Given the description of an element on the screen output the (x, y) to click on. 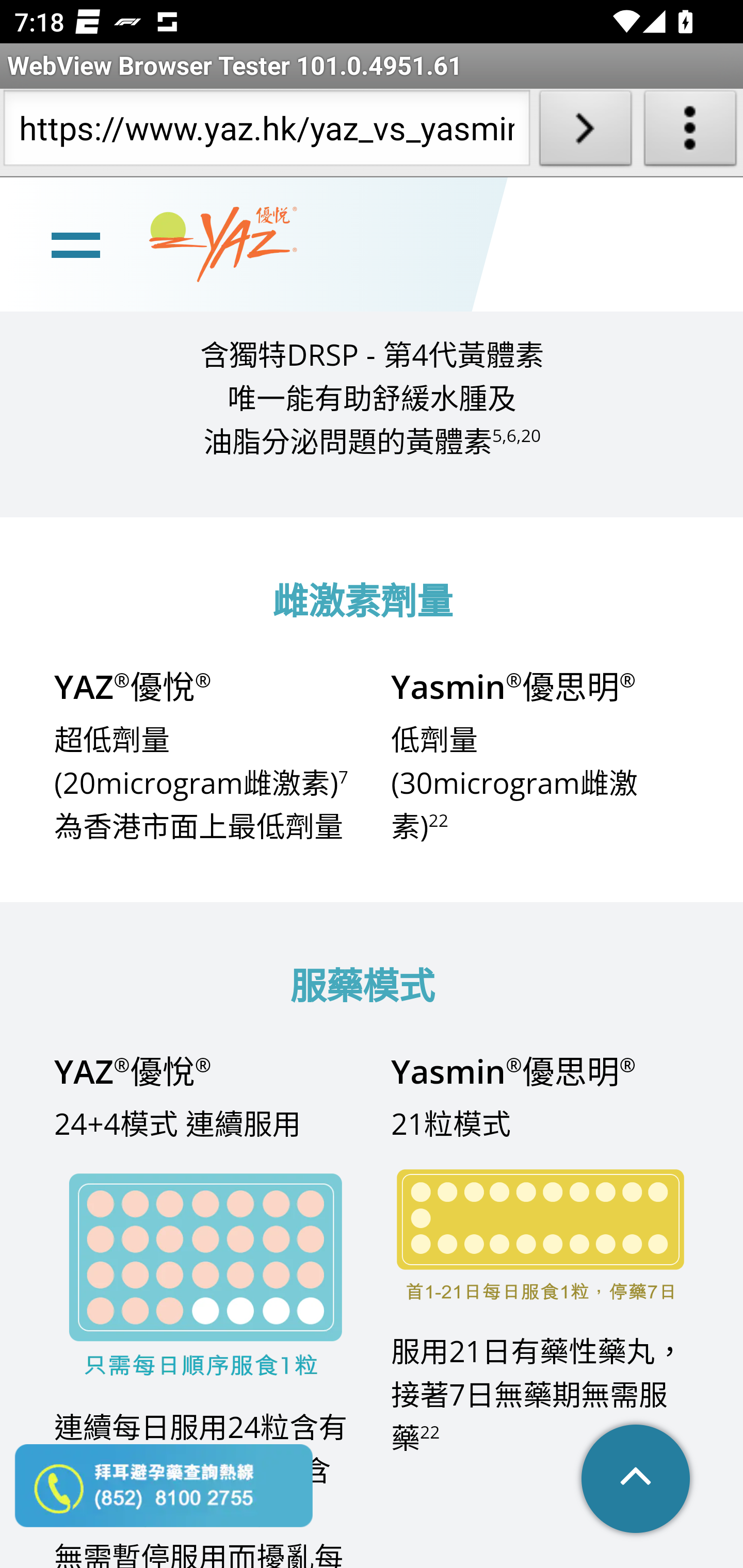
Load URL (585, 132)
About WebView (690, 132)
www.yaz (222, 244)
line Toggle burger menu (75, 242)
 (636, 1480)
